Given the description of an element on the screen output the (x, y) to click on. 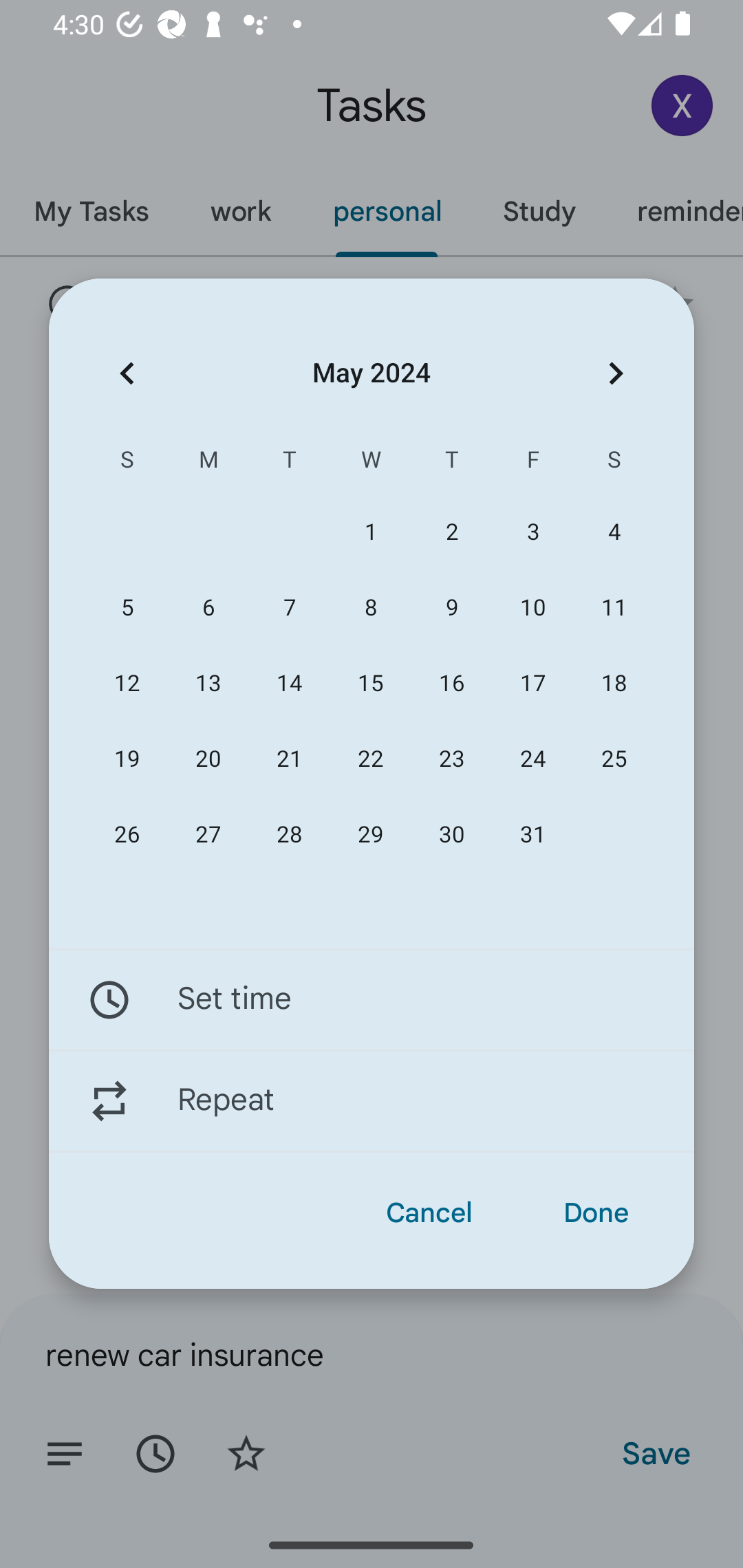
Previous month (126, 372)
Next month (615, 372)
1 01 May 2024 (370, 531)
2 02 May 2024 (451, 531)
3 03 May 2024 (532, 531)
4 04 May 2024 (613, 531)
5 05 May 2024 (126, 608)
6 06 May 2024 (207, 608)
7 07 May 2024 (288, 608)
8 08 May 2024 (370, 608)
9 09 May 2024 (451, 608)
10 10 May 2024 (532, 608)
11 11 May 2024 (613, 608)
12 12 May 2024 (126, 683)
13 13 May 2024 (207, 683)
14 14 May 2024 (288, 683)
15 15 May 2024 (370, 683)
16 16 May 2024 (451, 683)
17 17 May 2024 (532, 683)
18 18 May 2024 (613, 683)
19 19 May 2024 (126, 758)
20 20 May 2024 (207, 758)
21 21 May 2024 (288, 758)
22 22 May 2024 (370, 758)
23 23 May 2024 (451, 758)
24 24 May 2024 (532, 758)
25 25 May 2024 (613, 758)
26 26 May 2024 (126, 834)
27 27 May 2024 (207, 834)
28 28 May 2024 (288, 834)
29 29 May 2024 (370, 834)
30 30 May 2024 (451, 834)
31 31 May 2024 (532, 834)
Set time (371, 999)
Repeat (371, 1101)
Cancel (429, 1213)
Done (595, 1213)
